Given the description of an element on the screen output the (x, y) to click on. 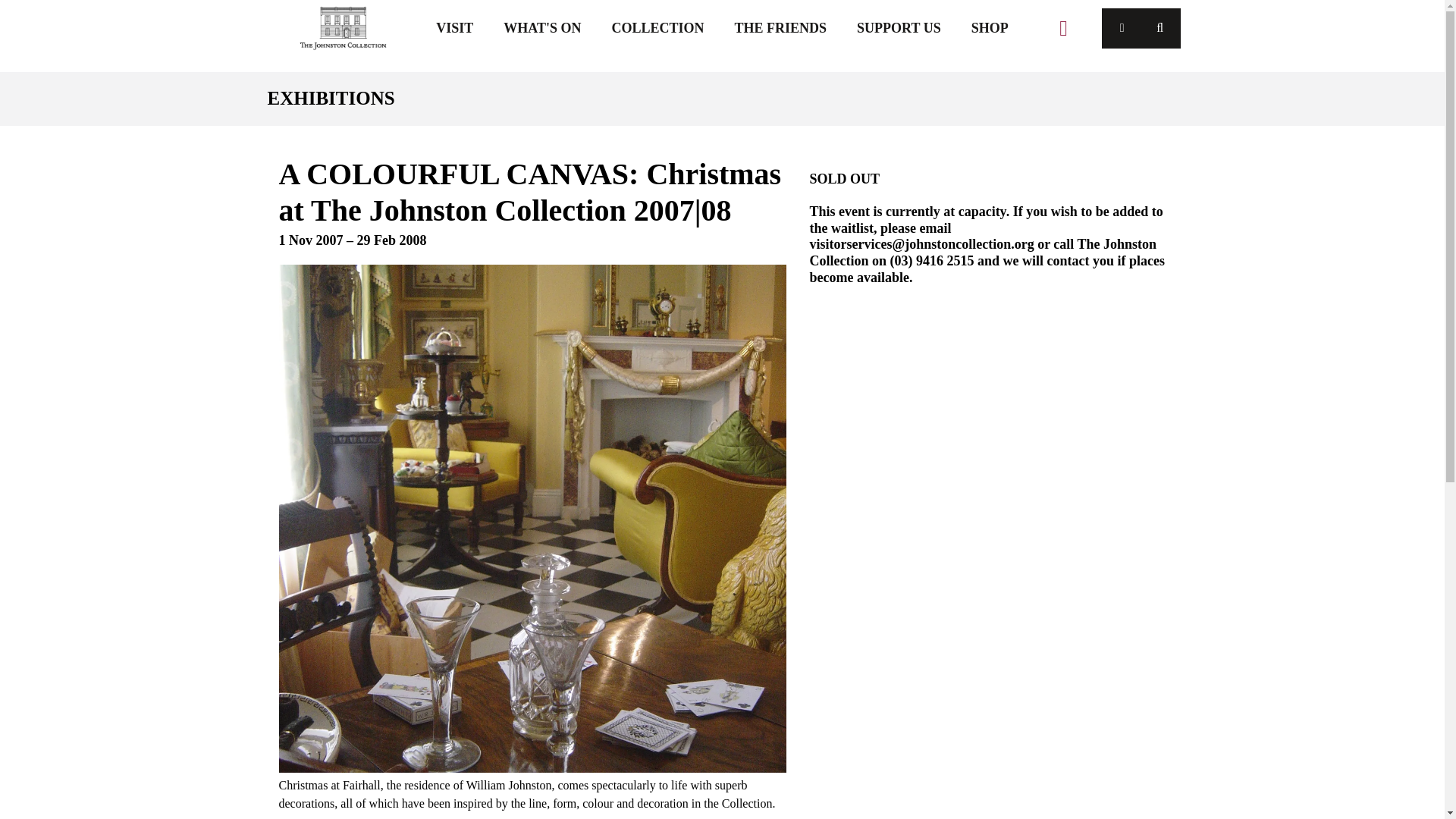
EXHIBITIONS (721, 97)
SUPPORT US (898, 27)
THE FRIENDS (781, 27)
VISIT (453, 27)
WHAT'S ON (541, 27)
SHOP (989, 27)
COLLECTION (657, 27)
